Given the description of an element on the screen output the (x, y) to click on. 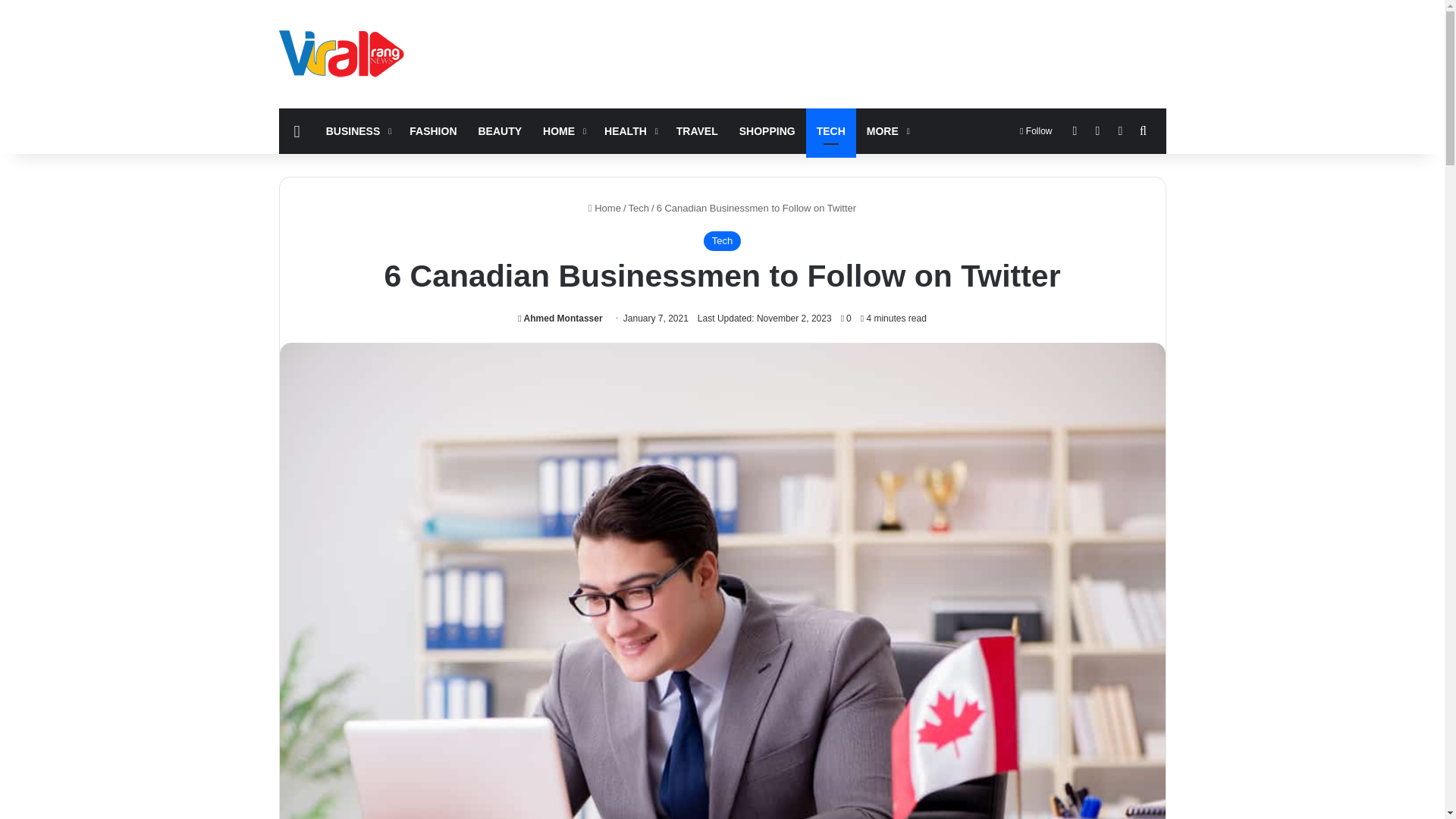
TRAVEL (697, 130)
BUSINESS (356, 130)
BEAUTY (499, 130)
Viral Rang (344, 53)
FASHION (432, 130)
TECH (831, 130)
SHOPPING (767, 130)
MORE (886, 130)
HOME (563, 130)
HEALTH (629, 130)
Ahmed Montasser (560, 317)
Follow (1035, 130)
